Given the description of an element on the screen output the (x, y) to click on. 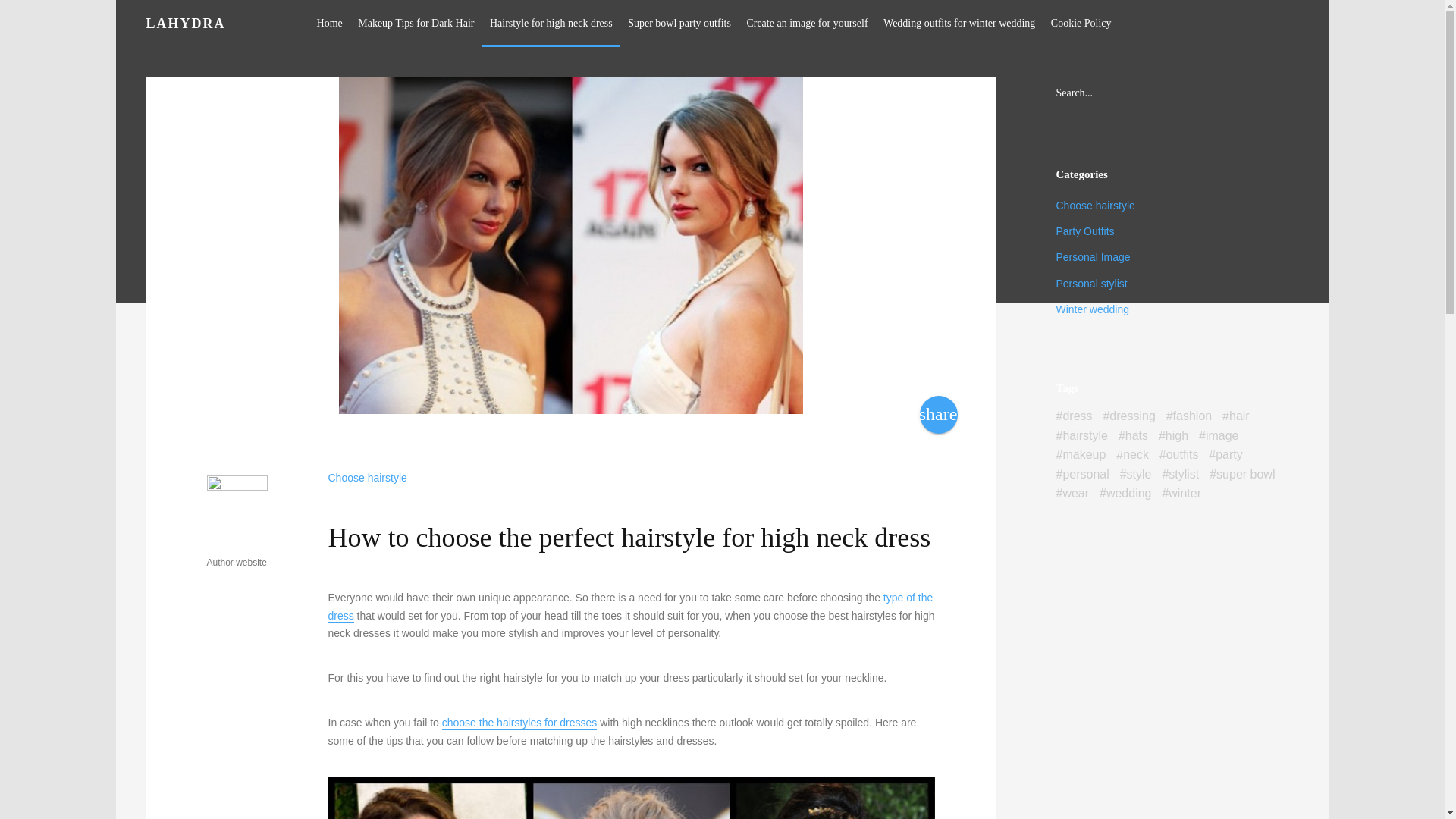
Search (34, 13)
choose the hairstyles for dresses (519, 722)
Party Outfits (1084, 231)
Create an image for yourself (806, 23)
dress (1073, 415)
Choose hairstyle (1094, 205)
Makeup Tips for Dark Hair (415, 23)
Hairstyle for high neck dress (550, 23)
Personal Image (1092, 257)
Skip to content (288, 9)
